Given the description of an element on the screen output the (x, y) to click on. 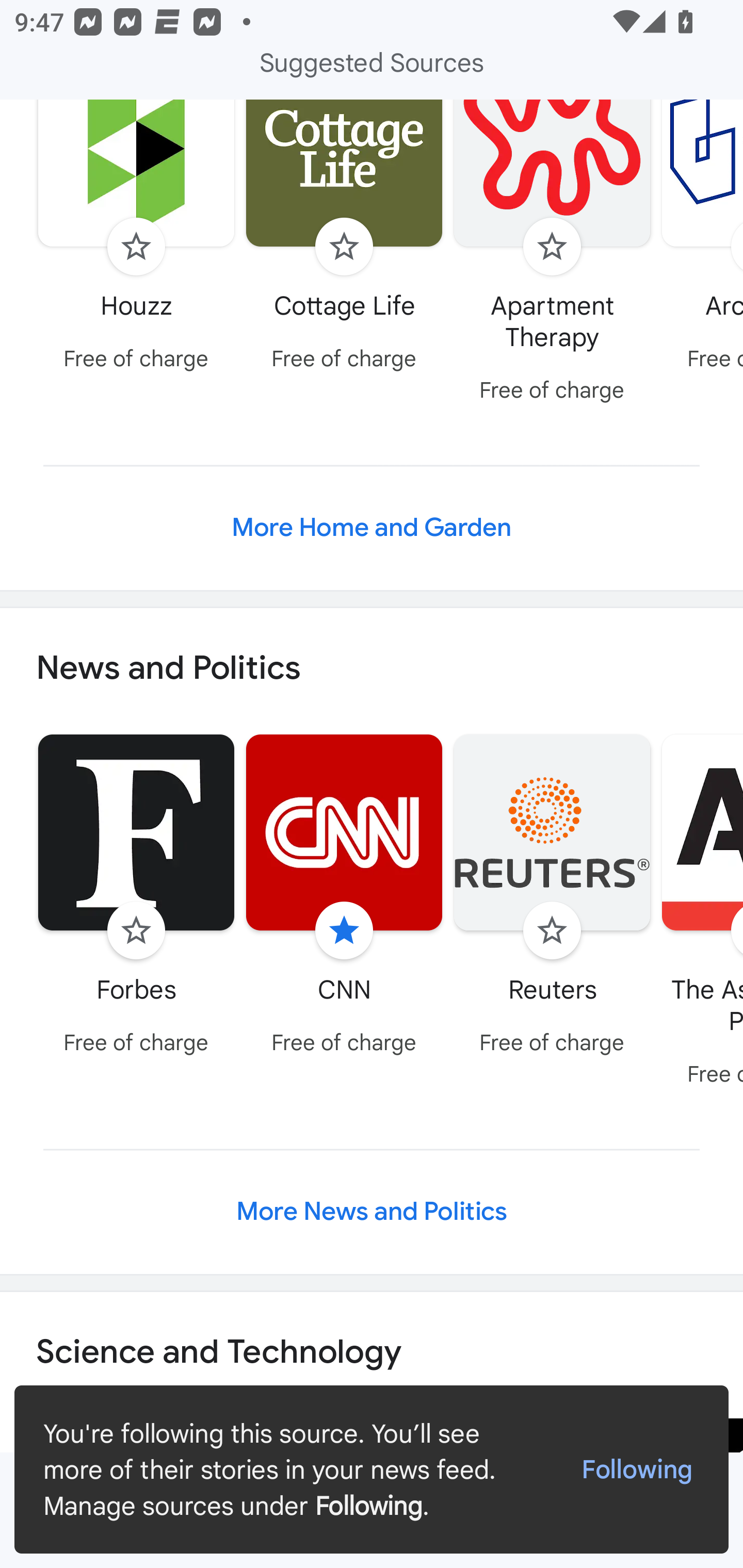
Follow Houzz Free of charge (136, 240)
Follow Cottage Life Free of charge (344, 240)
Follow Apartment Therapy Free of charge (552, 255)
Follow (135, 246)
Follow (343, 246)
Follow (552, 246)
More Home and Garden (371, 527)
News and Politics (371, 668)
Follow Forbes Free of charge (136, 897)
Unfollow CNN Free of charge (344, 897)
Follow Reuters Free of charge (552, 897)
Follow (135, 930)
Unfollow (343, 930)
Follow (552, 930)
More News and Politics (371, 1211)
Science and Technology (371, 1352)
Following (636, 1469)
